Given the description of an element on the screen output the (x, y) to click on. 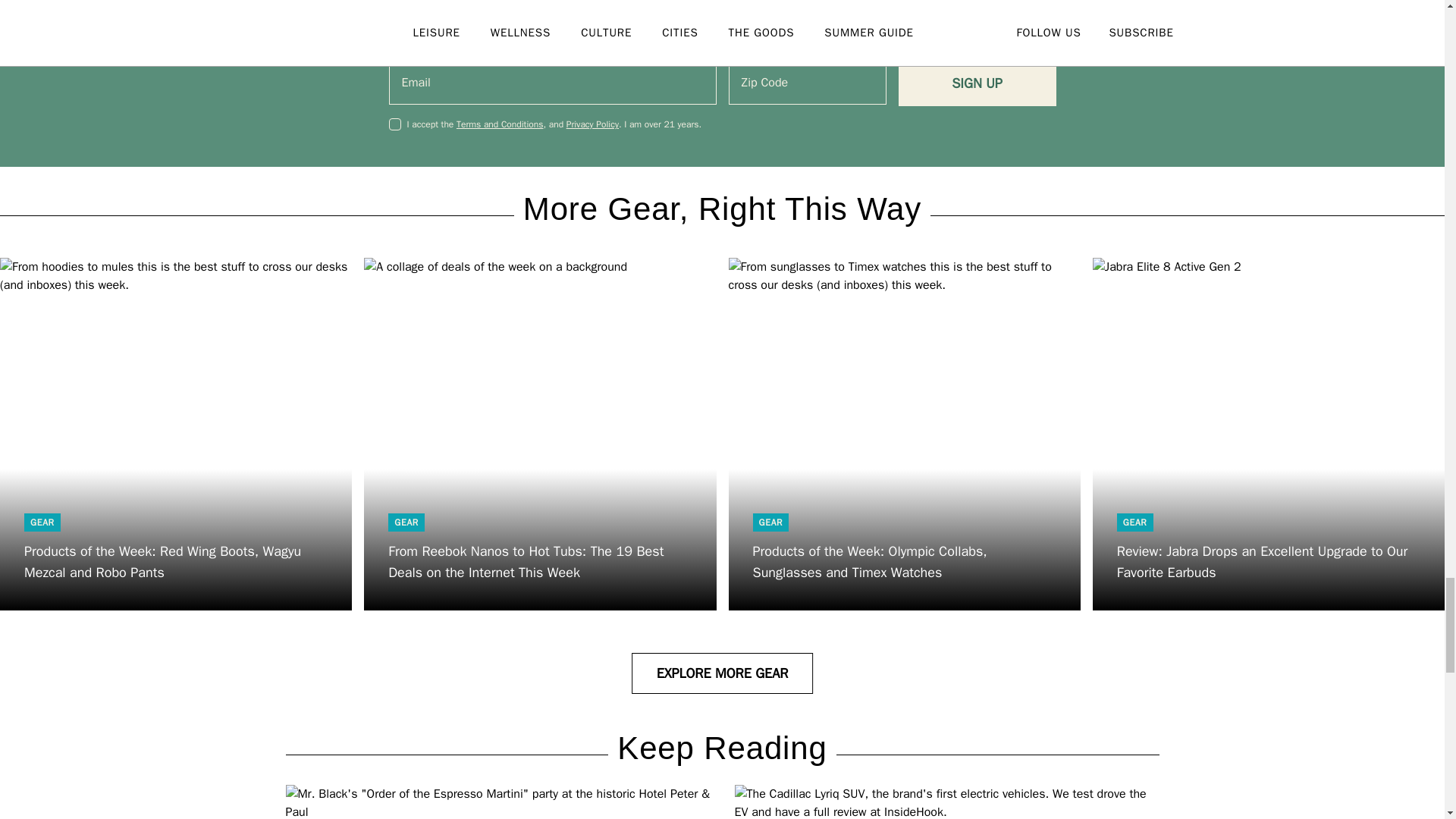
on (394, 123)
